Given the description of an element on the screen output the (x, y) to click on. 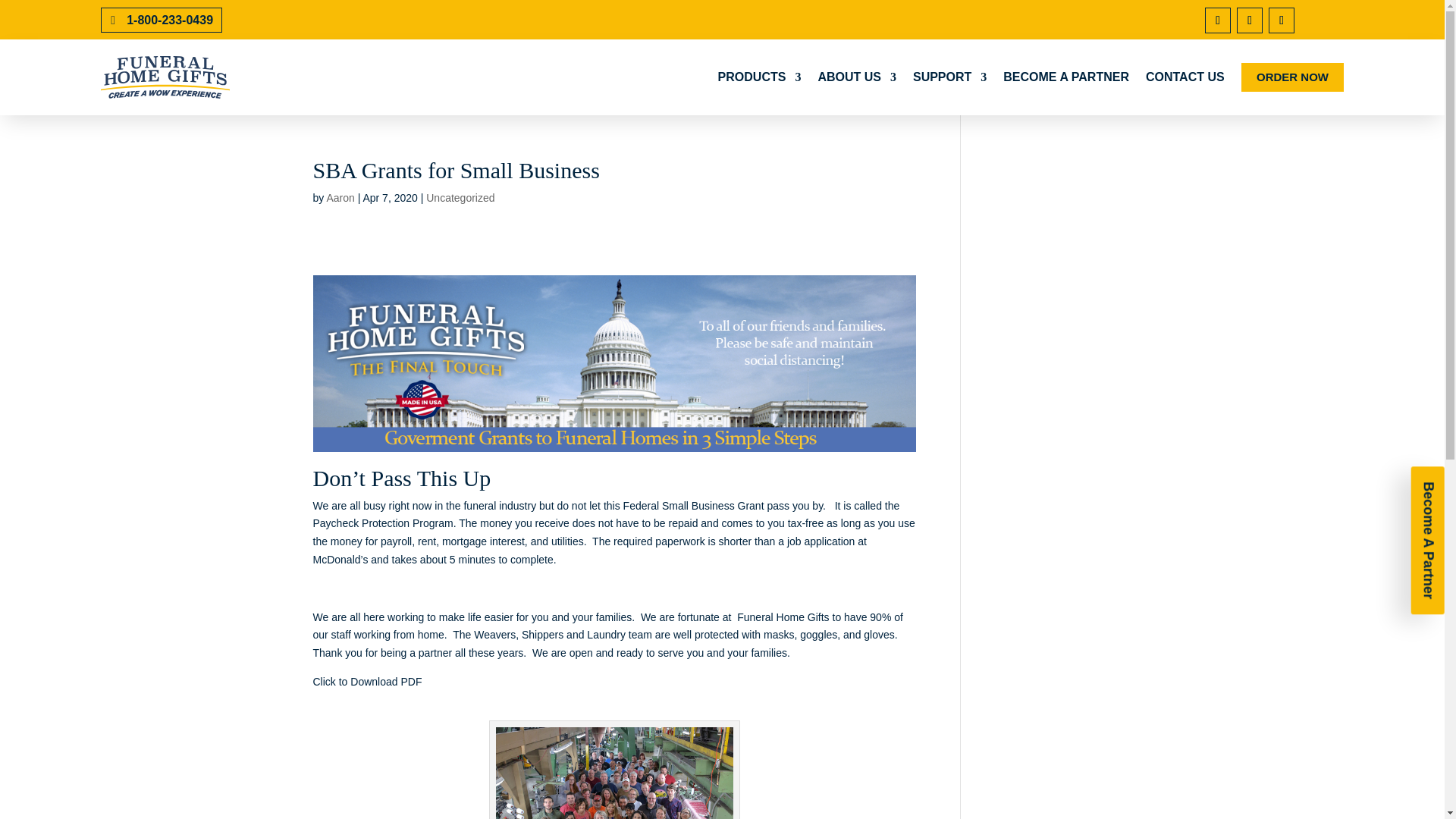
BECOME A PARTNER (1066, 76)
PRODUCTS (759, 76)
ORDER NOW (1292, 76)
Follow on Facebook (1217, 20)
1-800-233-0439 (161, 19)
Posts by Aaron (339, 197)
SUPPORT (949, 76)
ABOUT US (856, 76)
Follow on Youtube (1281, 20)
CONTACT US (1184, 76)
Follow on Instagram (1249, 20)
